Given the description of an element on the screen output the (x, y) to click on. 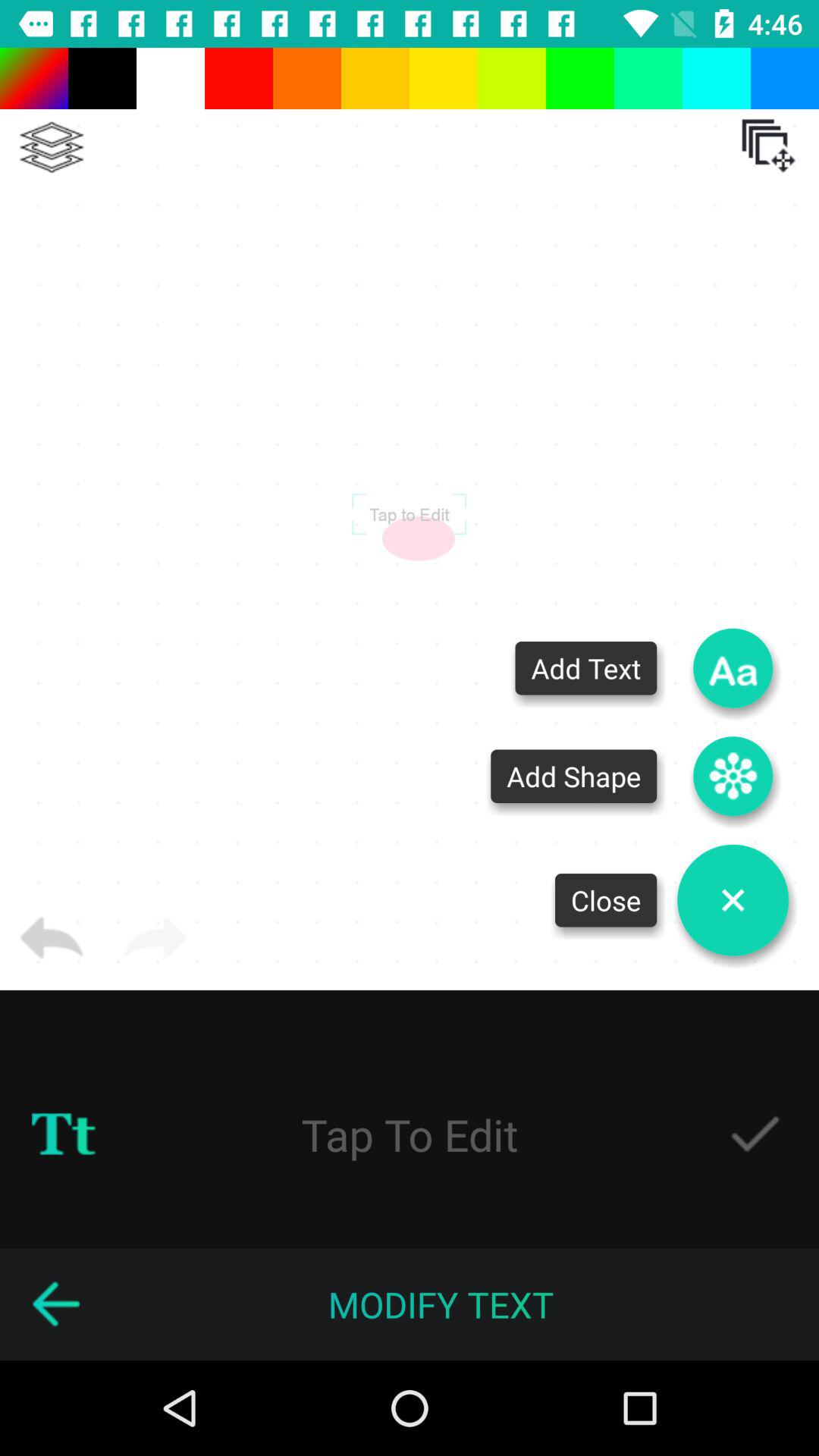
text edit (409, 1134)
